Given the description of an element on the screen output the (x, y) to click on. 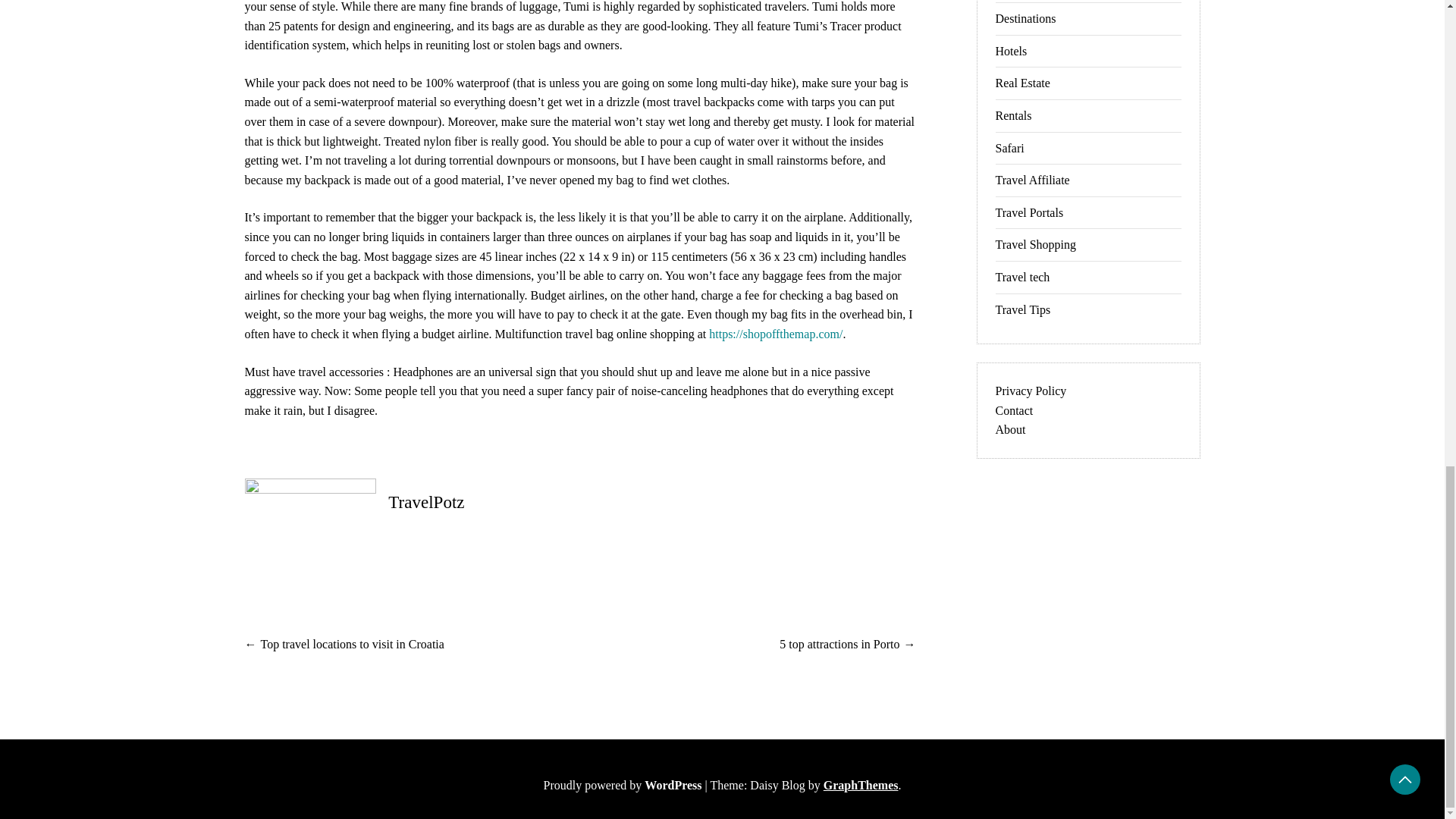
5 top attractions in Porto (838, 644)
TravelPotz (426, 501)
Top travel locations to visit in Croatia (352, 644)
